Given the description of an element on the screen output the (x, y) to click on. 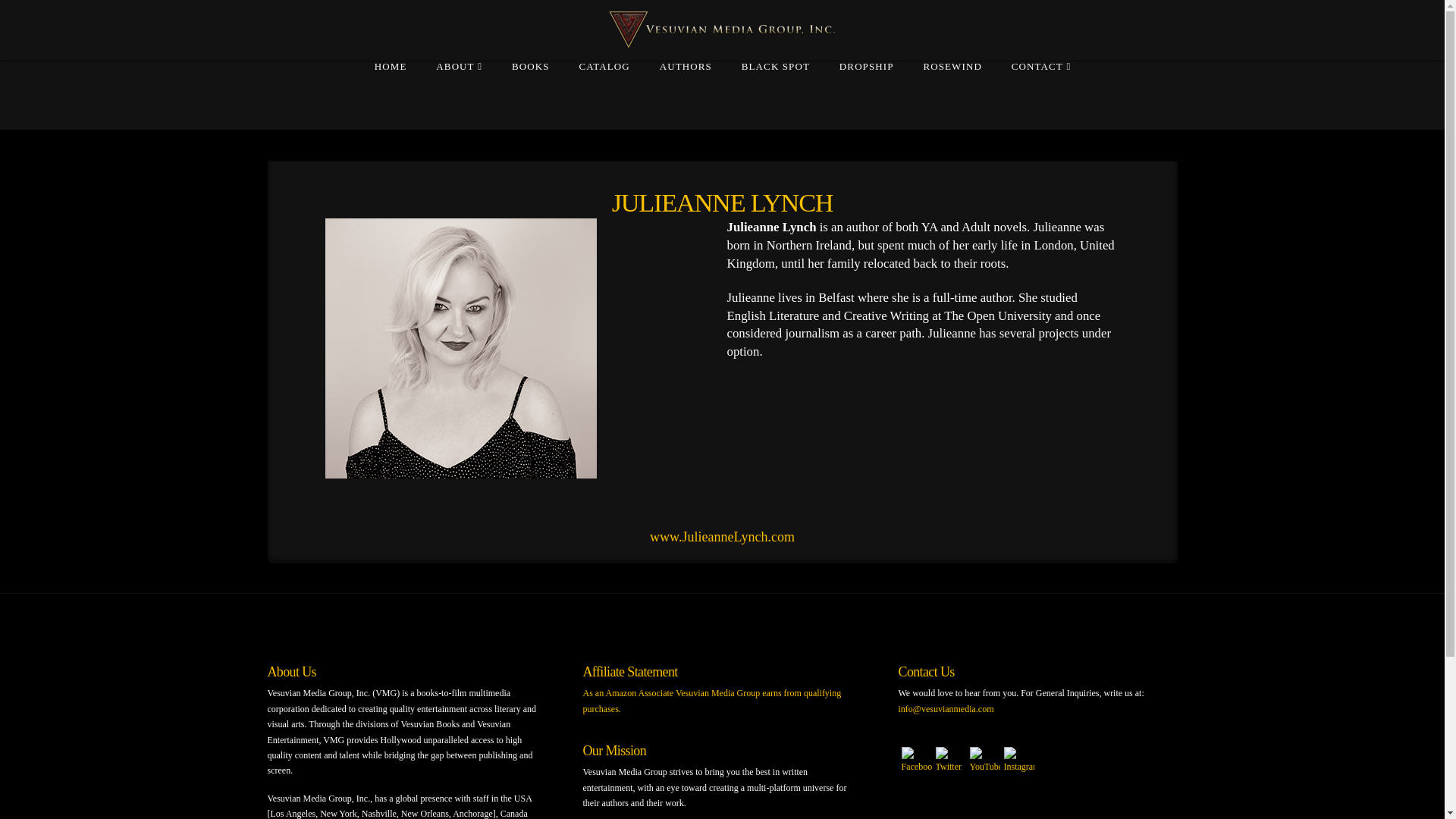
BOOKS (530, 95)
DROPSHIP (866, 95)
HOME (390, 95)
Instagram (1018, 759)
www.JulieanneLynch.com (721, 536)
AUTHORS (685, 95)
Facebook (916, 759)
julieanne2 (460, 353)
CATALOG (603, 95)
BLACK SPOT (775, 95)
